Given the description of an element on the screen output the (x, y) to click on. 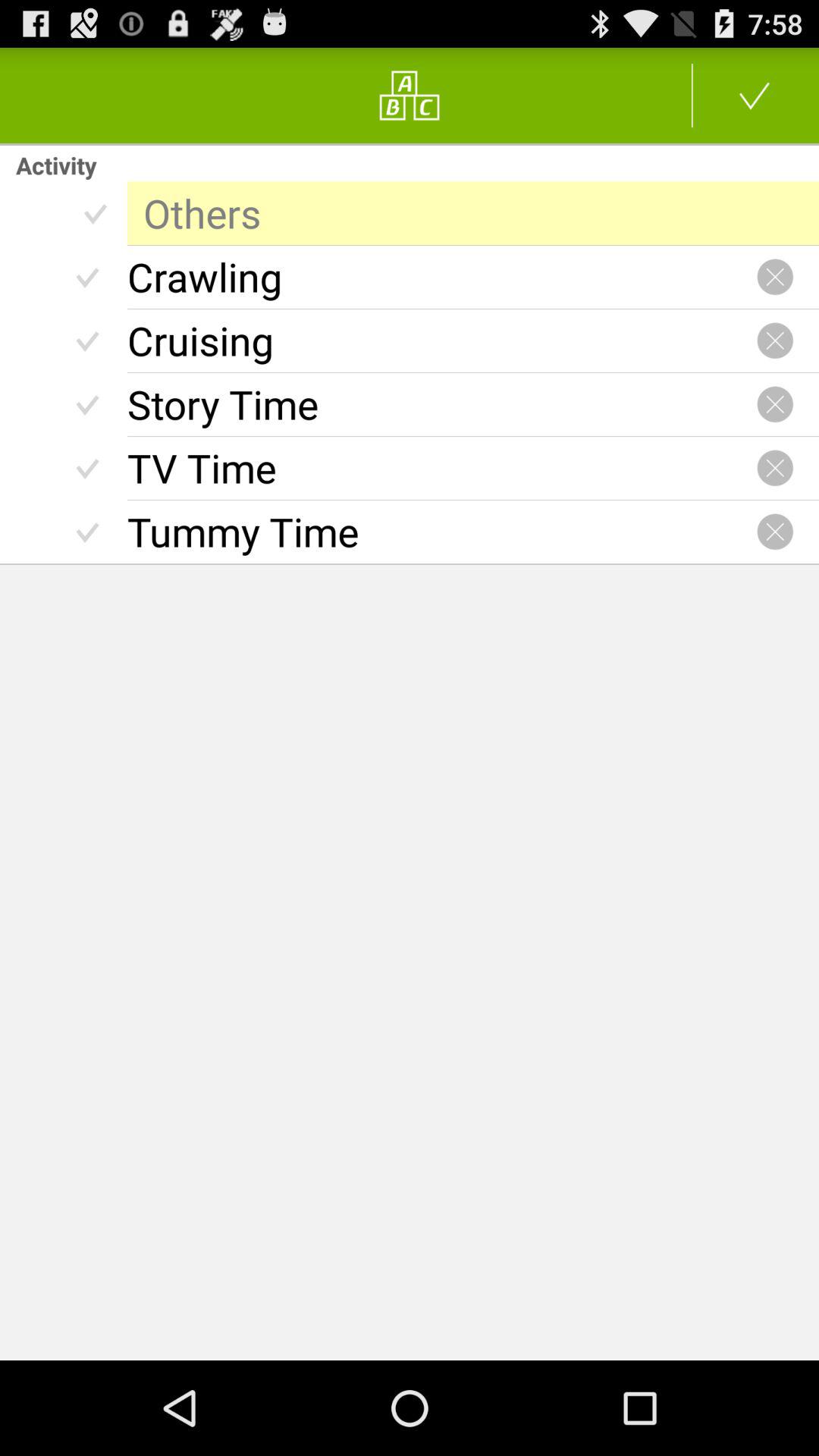
scroll to the tv time (441, 467)
